Given the description of an element on the screen output the (x, y) to click on. 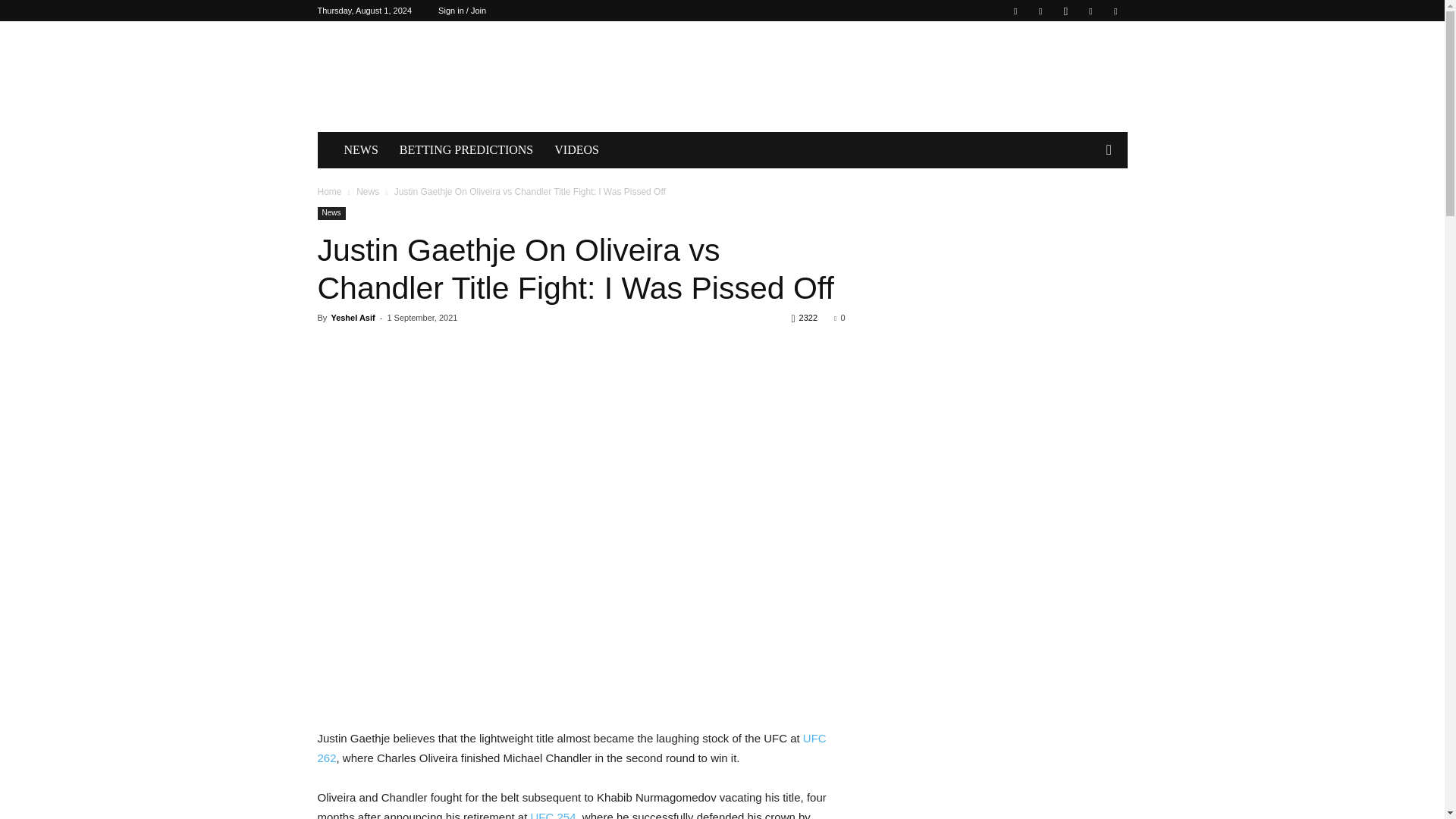
Youtube (1114, 10)
Twitter (1090, 10)
Instagram (1065, 10)
Facebook (1015, 10)
NEWS (360, 149)
View all posts in News (367, 191)
